Given the description of an element on the screen output the (x, y) to click on. 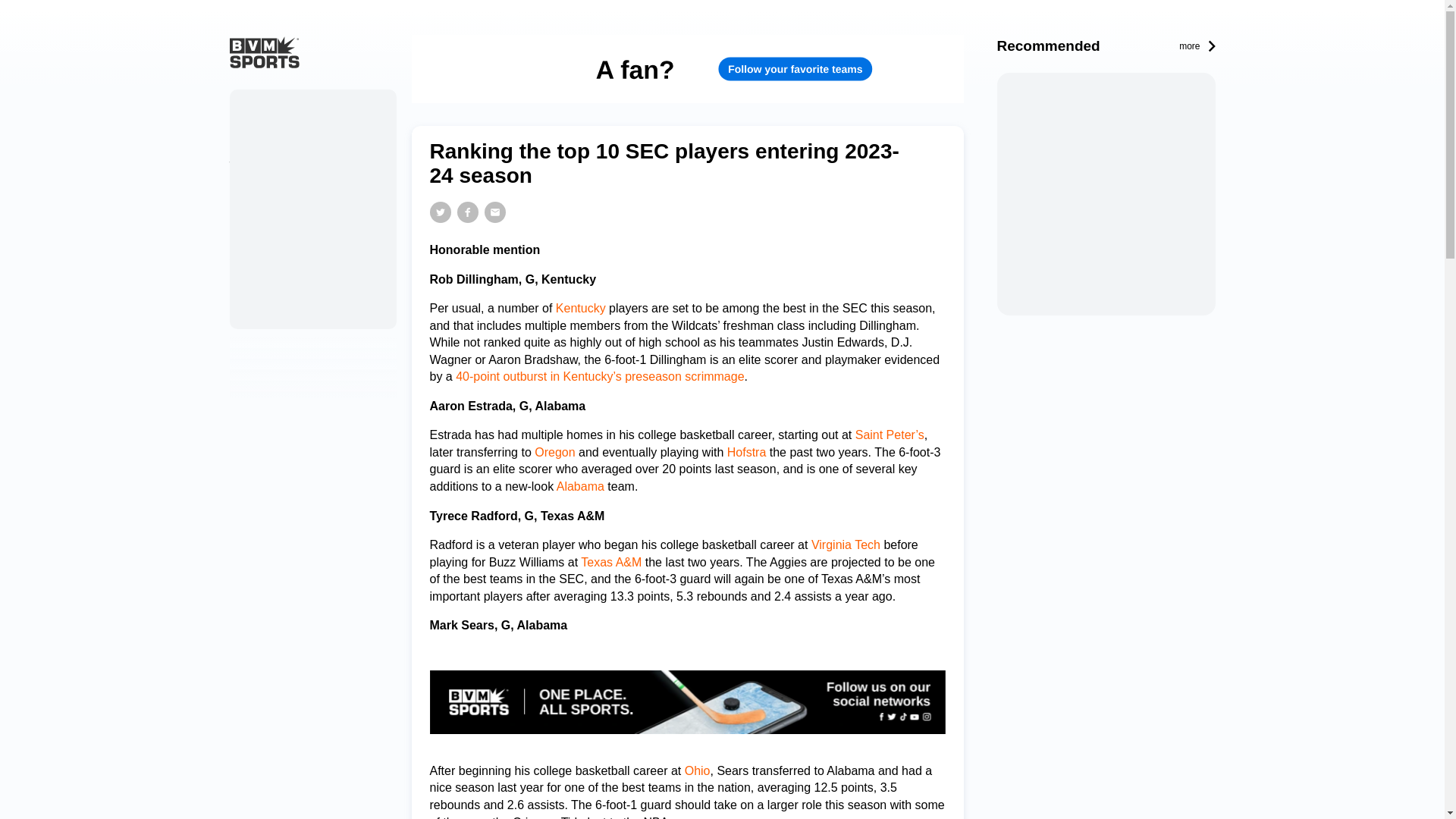
Account (249, 255)
Search (246, 315)
Favorites (252, 225)
Home (252, 104)
Share on Facebook (467, 211)
Originals (251, 134)
Submit a story (265, 286)
Kentucky (580, 308)
Share on Twitter (439, 211)
Watch (244, 164)
